Given the description of an element on the screen output the (x, y) to click on. 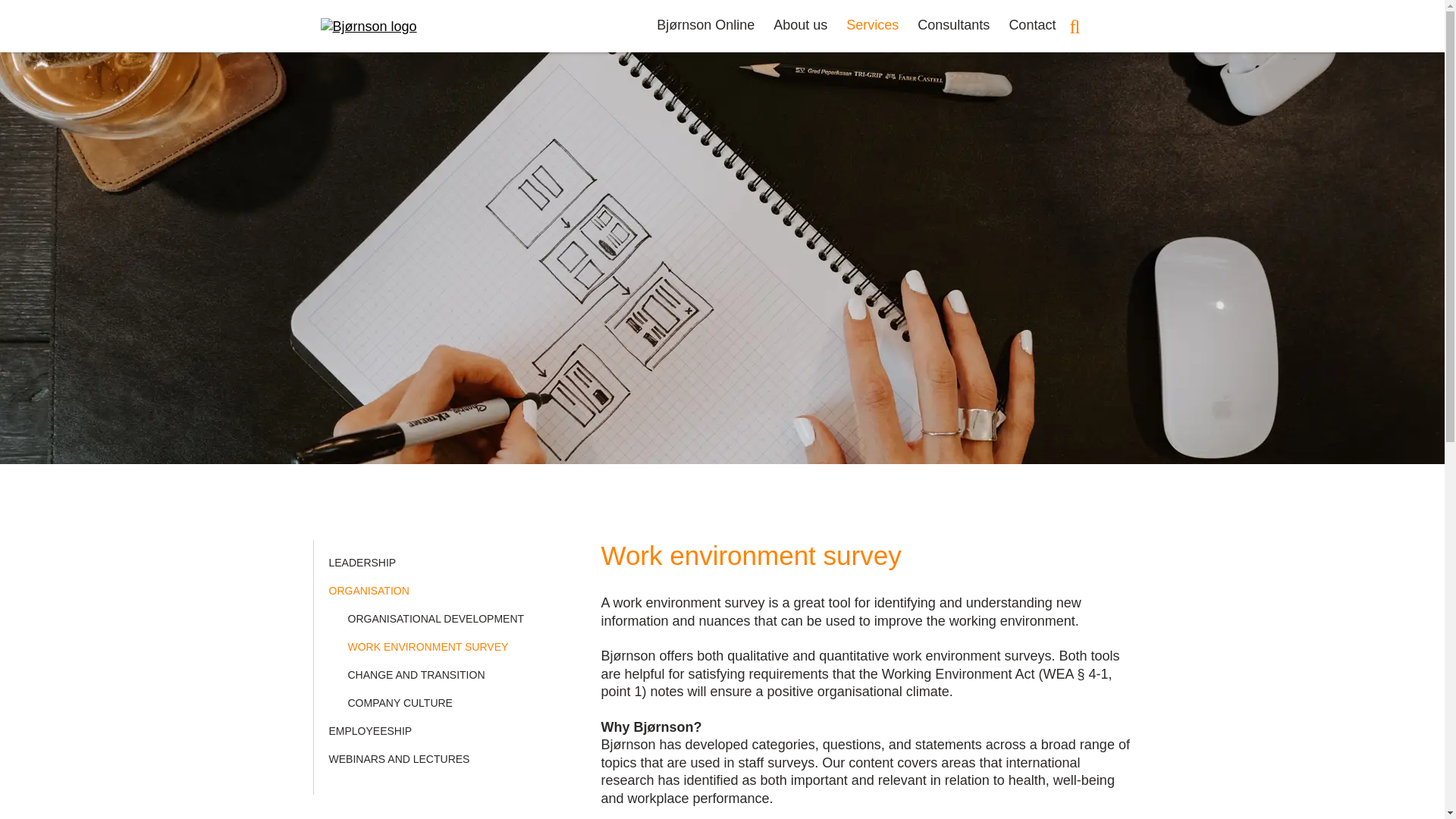
Contact (1031, 24)
Consultants (953, 24)
About us (800, 24)
Services (872, 24)
